Given the description of an element on the screen output the (x, y) to click on. 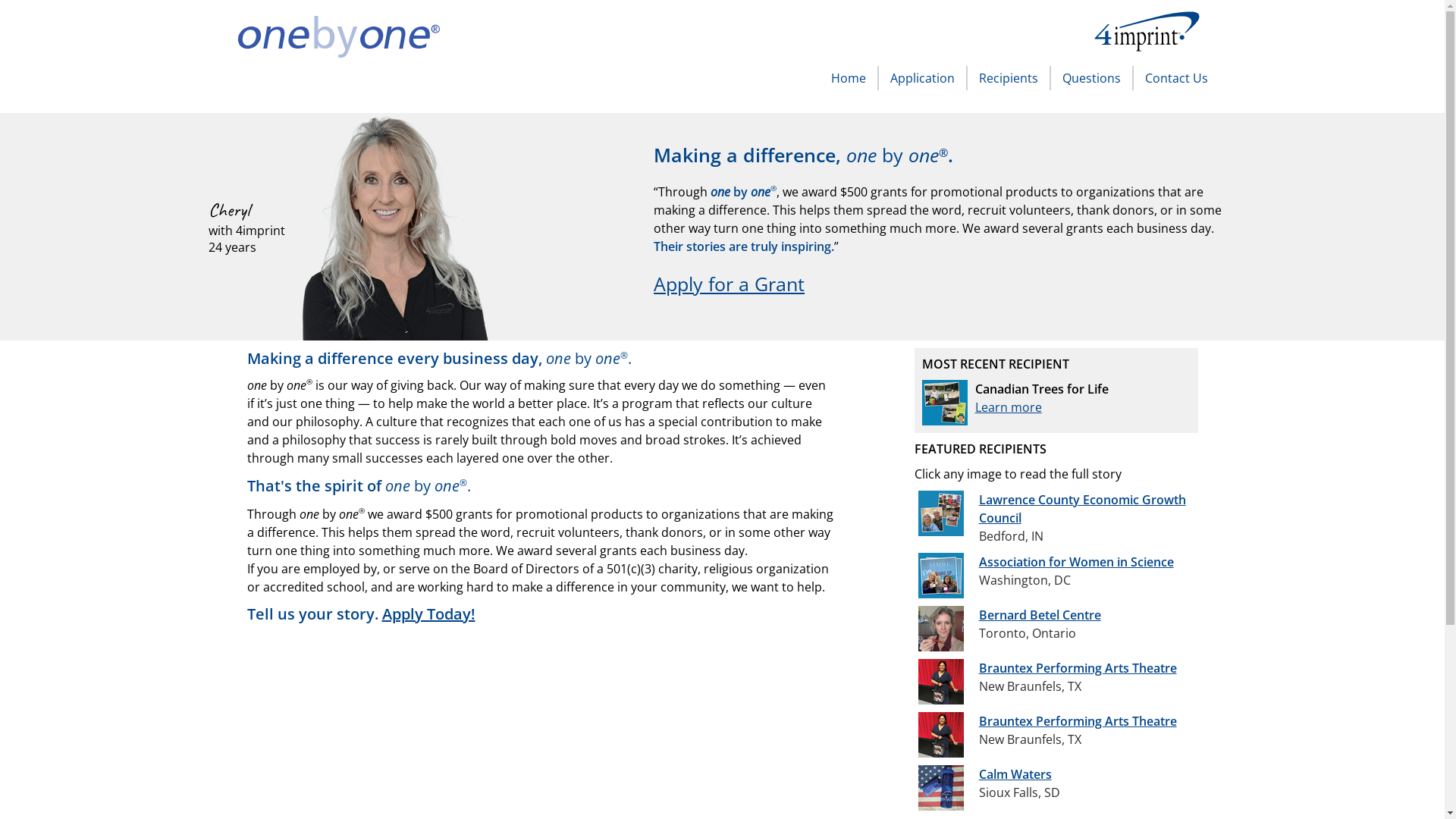
Apply for a Grant Element type: text (728, 283)
Lawrence County Economic Growth Council
Bedford, IN Element type: text (1056, 517)
Recipients Element type: text (1003, 77)
Home Element type: text (847, 77)
Contact Us Element type: text (1171, 77)
Calm Waters
Sioux Falls, SD Element type: text (992, 787)
Shop 4imprint.com opens in new window Element type: text (1152, 33)
Questions Element type: text (1086, 77)
Brauntex Performing Arts Theatre
New Braunfels, TX Element type: text (1051, 734)
Brauntex Performing Arts Theatre
New Braunfels, TX Element type: text (1051, 681)
Apply Today! Element type: text (428, 613)
Learn more
about their cause Element type: text (1008, 406)
Application Element type: text (916, 77)
Association for Women in Science
Washington, DC Element type: text (1049, 575)
Bernard Betel Centre
Toronto, Ontario Element type: text (1013, 628)
